Given the description of an element on the screen output the (x, y) to click on. 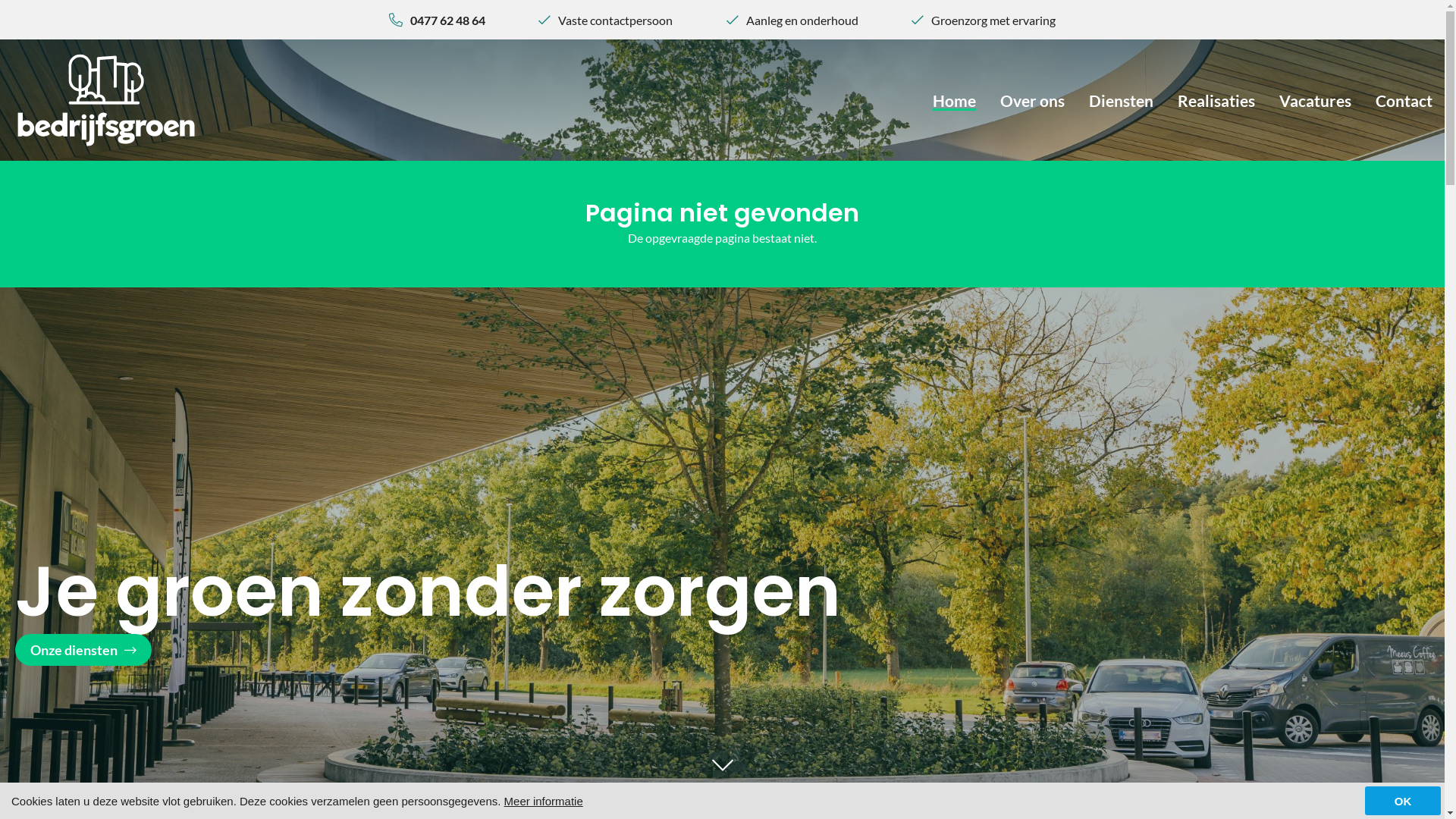
0477 62 48 64 Element type: text (446, 19)
Meer informatie Element type: text (543, 800)
Bedrijfsgroen Element type: hover (106, 99)
Over ons Element type: text (1032, 100)
OK Element type: text (1402, 800)
Home Element type: text (954, 100)
Contact Element type: text (1403, 100)
Vacatures Element type: text (1315, 100)
Realisaties Element type: text (1216, 100)
Diensten Element type: text (1120, 100)
Onze diensten Element type: text (83, 649)
